Given the description of an element on the screen output the (x, y) to click on. 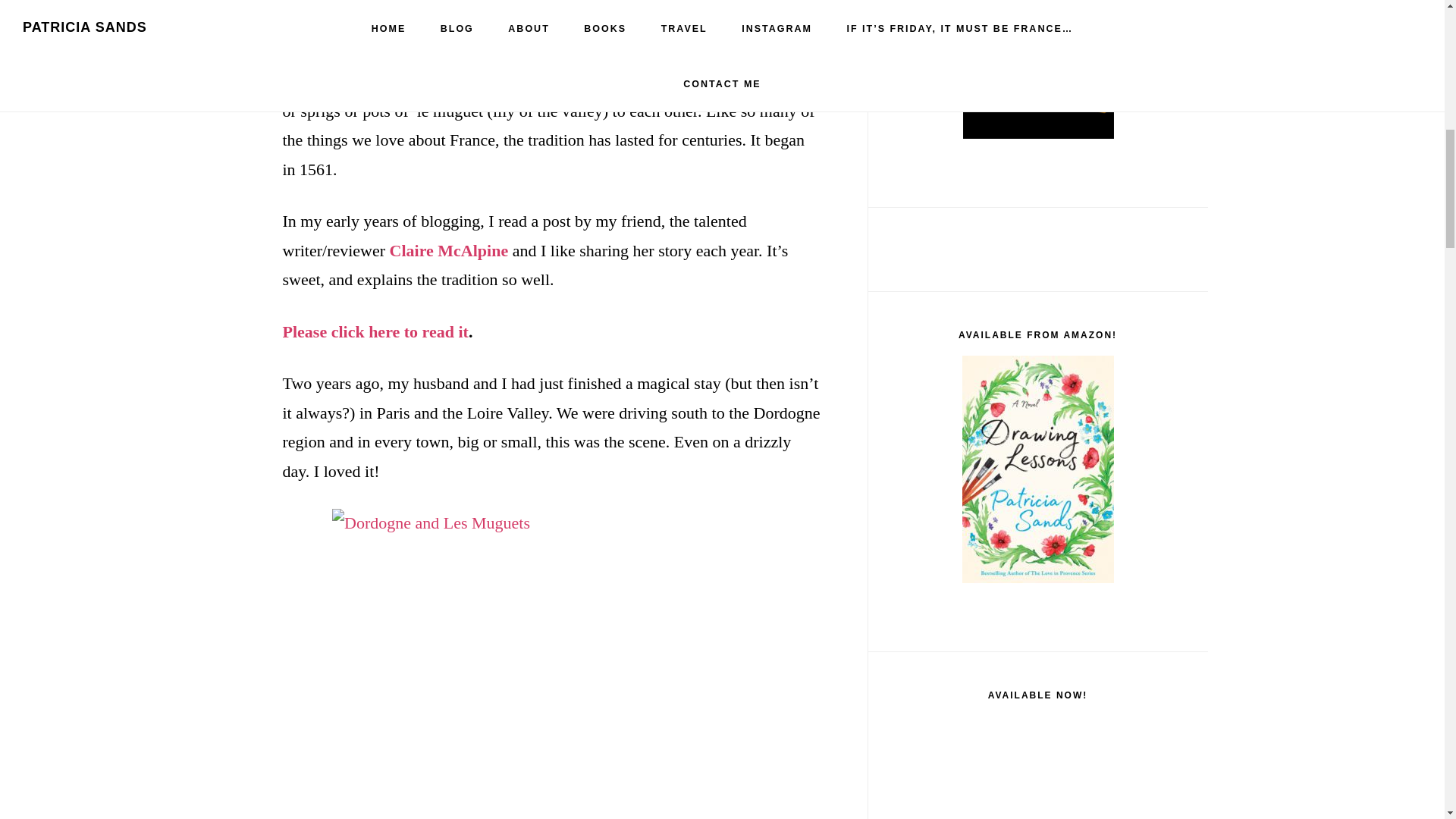
Please click here to read it (374, 331)
Claire McAlpine (449, 250)
